Given the description of an element on the screen output the (x, y) to click on. 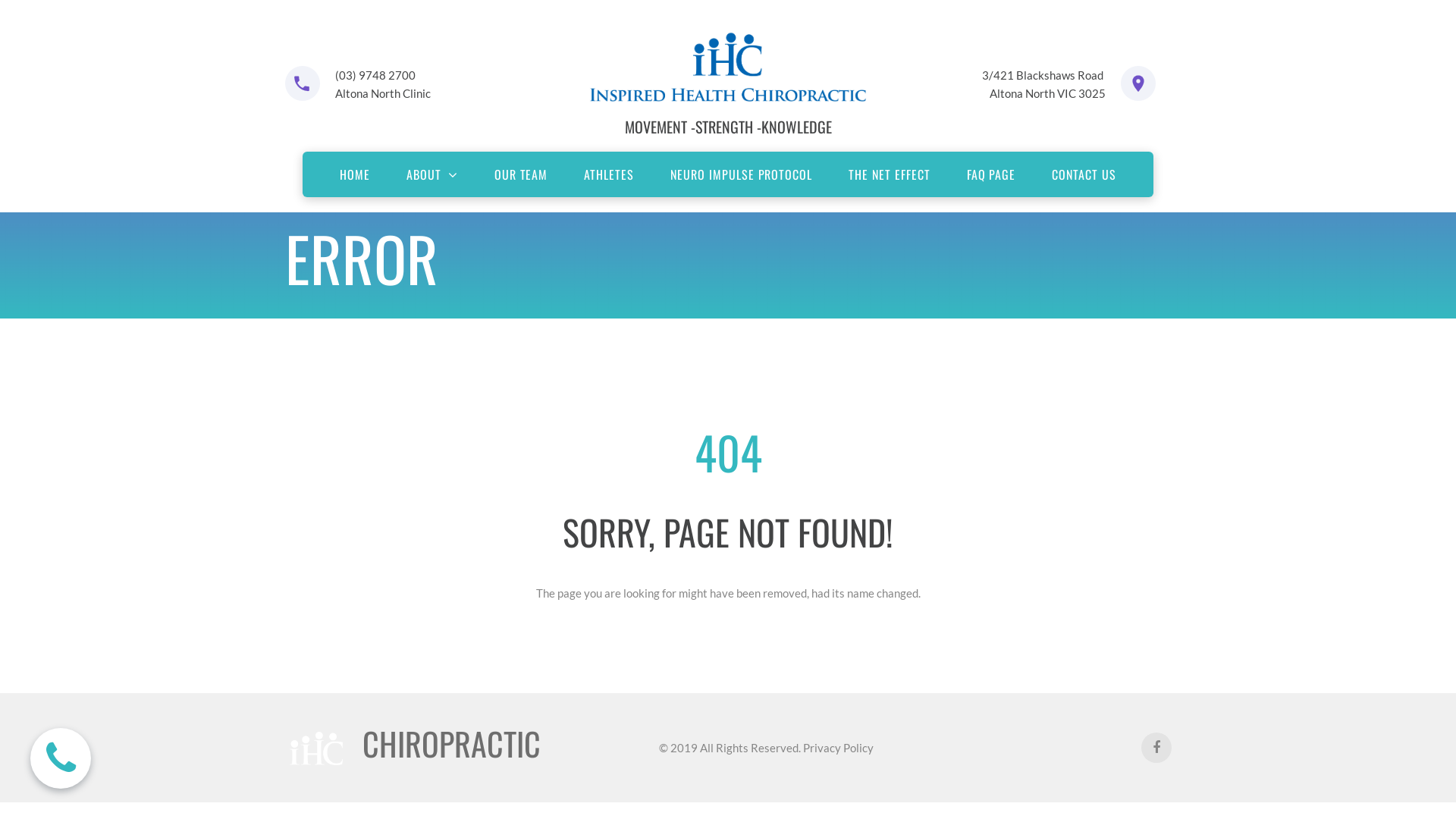
CHIROPRACTIC Element type: text (451, 742)
NEURO IMPULSE PROTOCOL Element type: text (741, 174)
ATHLETES Element type: text (608, 174)
Privacy Policy Element type: text (837, 747)
THE NET EFFECT Element type: text (888, 174)
HOME Element type: text (354, 174)
FAQ PAGE Element type: text (991, 174)
OUR TEAM Element type: text (521, 174)
3/421 Blackshaws Road  Element type: text (1043, 74)
(03) 9748 2700 Element type: text (375, 74)
CONTACT US Element type: text (1083, 174)
ABOUT Element type: text (432, 174)
